Given the description of an element on the screen output the (x, y) to click on. 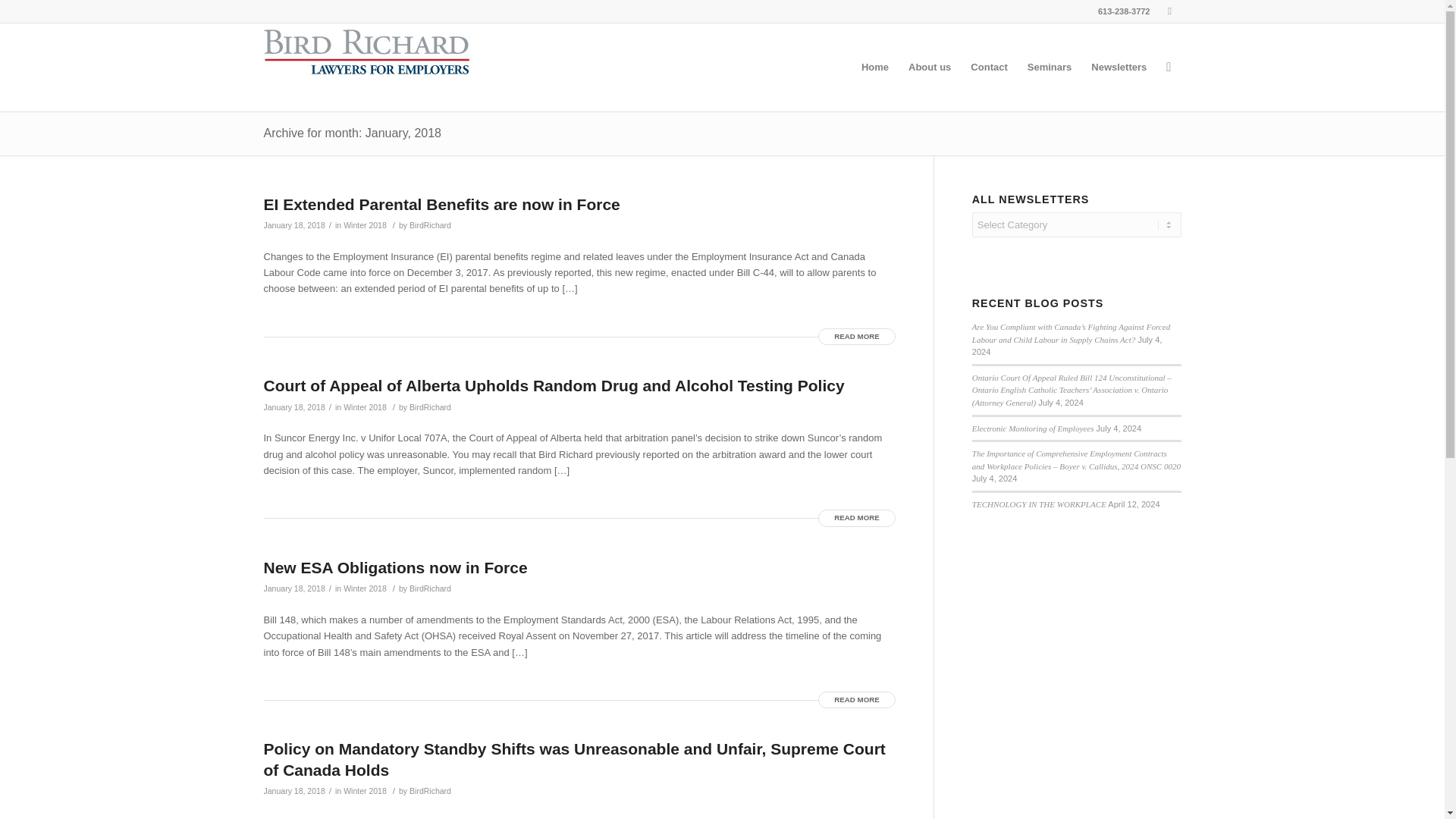
BirdRichard (430, 225)
Mail (1169, 11)
Posts by BirdRichard (430, 225)
Posts by BirdRichard (430, 790)
EI Extended Parental Benefits are now in Force (441, 203)
Winter 2018 (365, 225)
Posts by BirdRichard (430, 587)
Permanent Link: New ESA Obligations now in Force (395, 567)
